Given the description of an element on the screen output the (x, y) to click on. 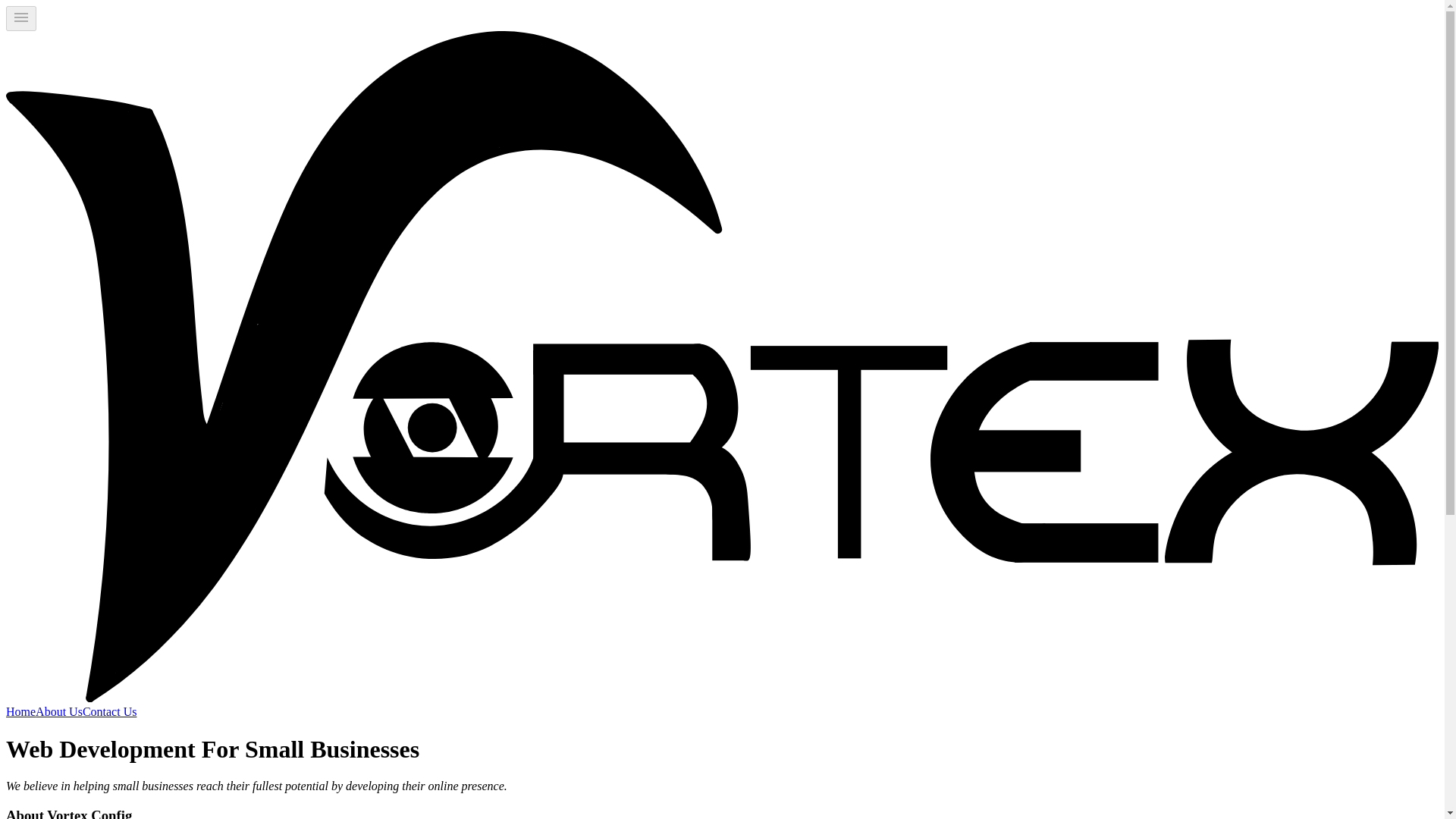
Contact Us (109, 711)
About Us (58, 711)
Home (19, 711)
